Given the description of an element on the screen output the (x, y) to click on. 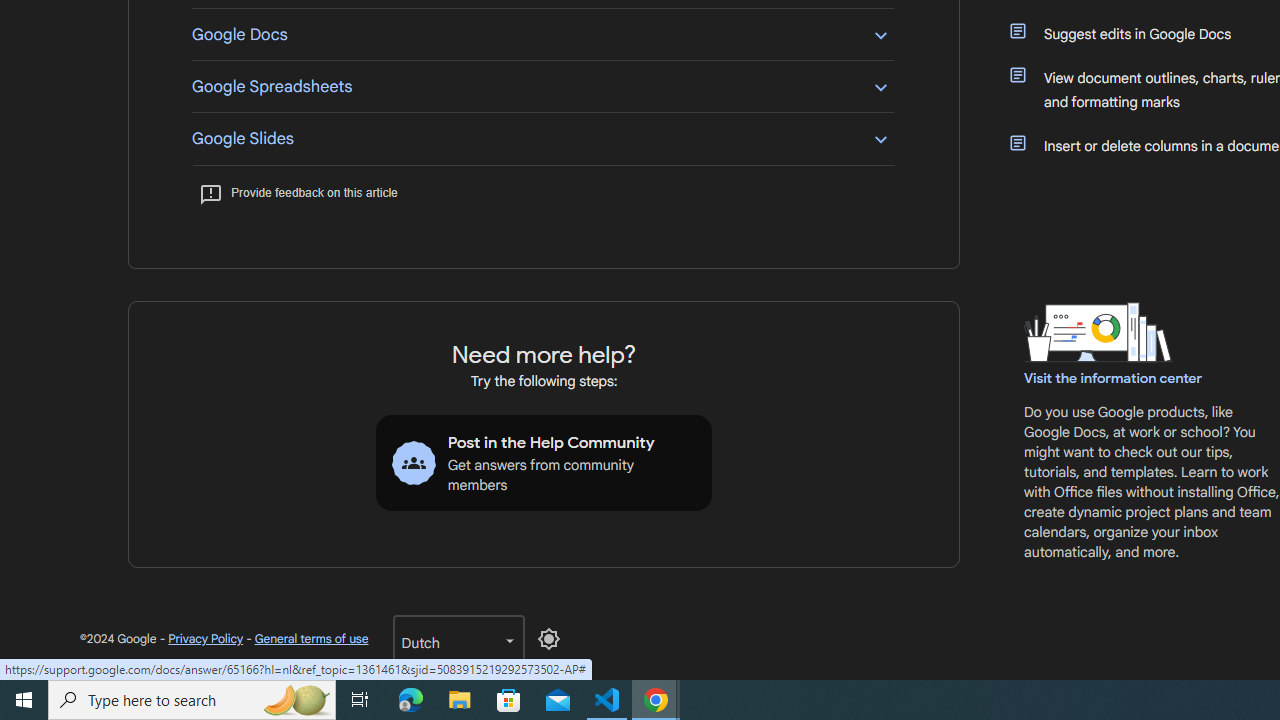
Google Docs (542, 34)
Google Slides (542, 138)
General terms of use (310, 637)
Google Spreadsheets (542, 86)
Provide feedback on this article (298, 192)
Disable dark mode (548, 638)
Visit the information center (1113, 378)
